Given the description of an element on the screen output the (x, y) to click on. 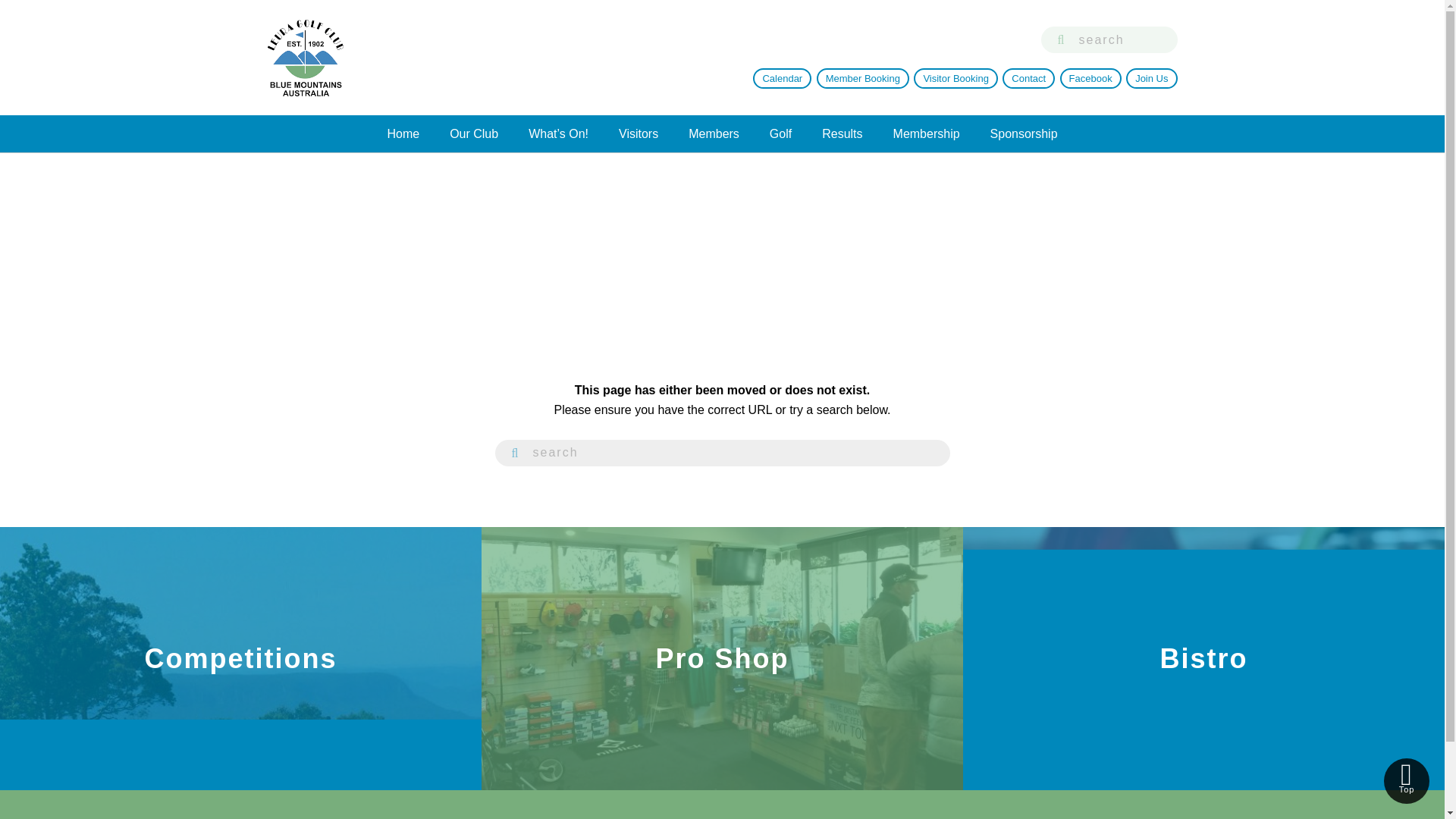
Facebook (1090, 77)
Visitor Booking (955, 77)
Join Us (1150, 77)
Home (402, 133)
Our Club (473, 133)
Golf (780, 133)
Calendar (781, 77)
Member Booking (862, 77)
Visitors (638, 133)
Members (713, 133)
